Given the description of an element on the screen output the (x, y) to click on. 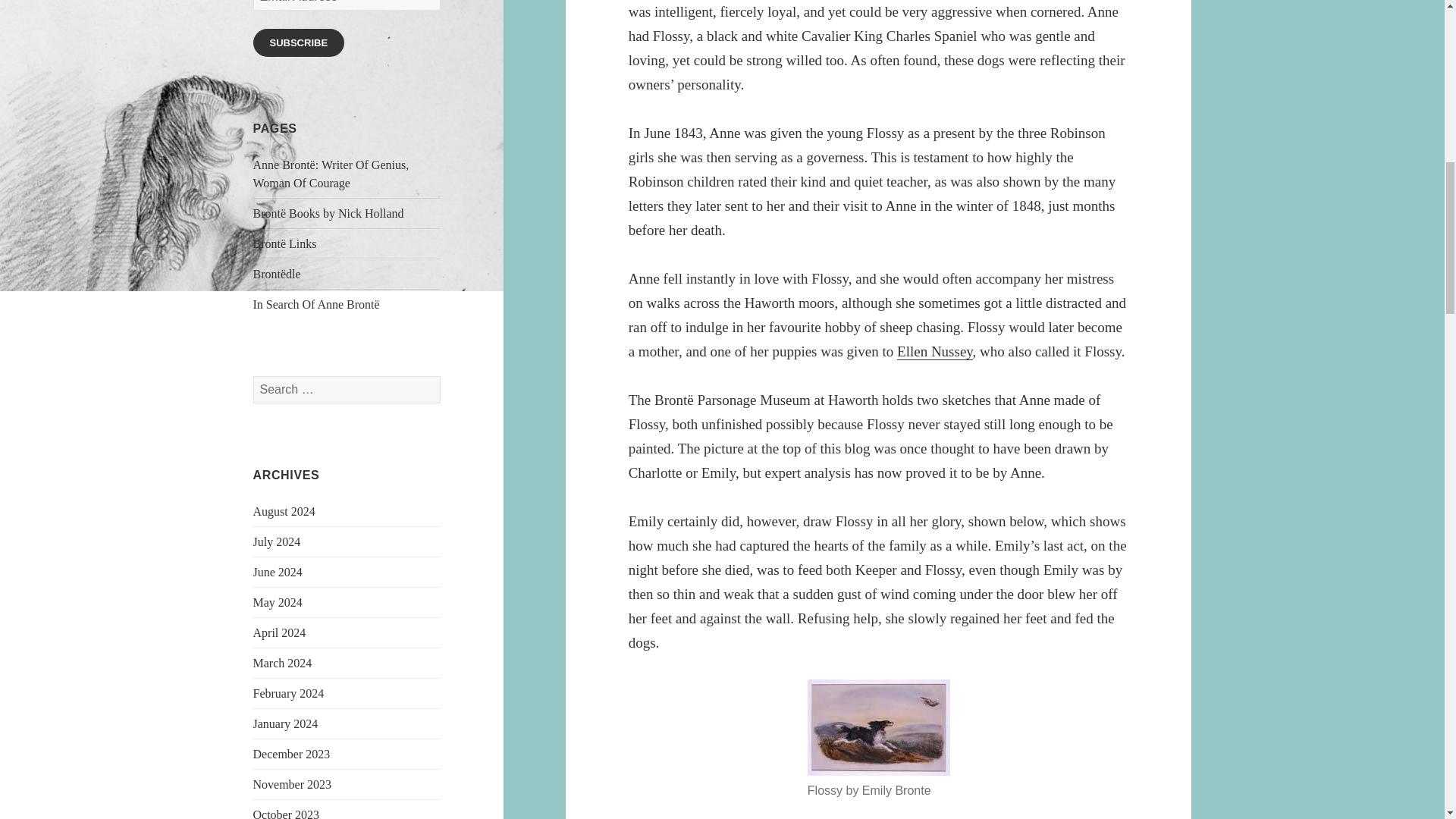
December 2023 (291, 753)
July 2024 (277, 541)
August 2024 (284, 511)
October 2023 (286, 813)
March 2024 (283, 662)
June 2024 (277, 571)
November 2023 (292, 784)
January 2024 (285, 723)
February 2024 (288, 693)
